Given the description of an element on the screen output the (x, y) to click on. 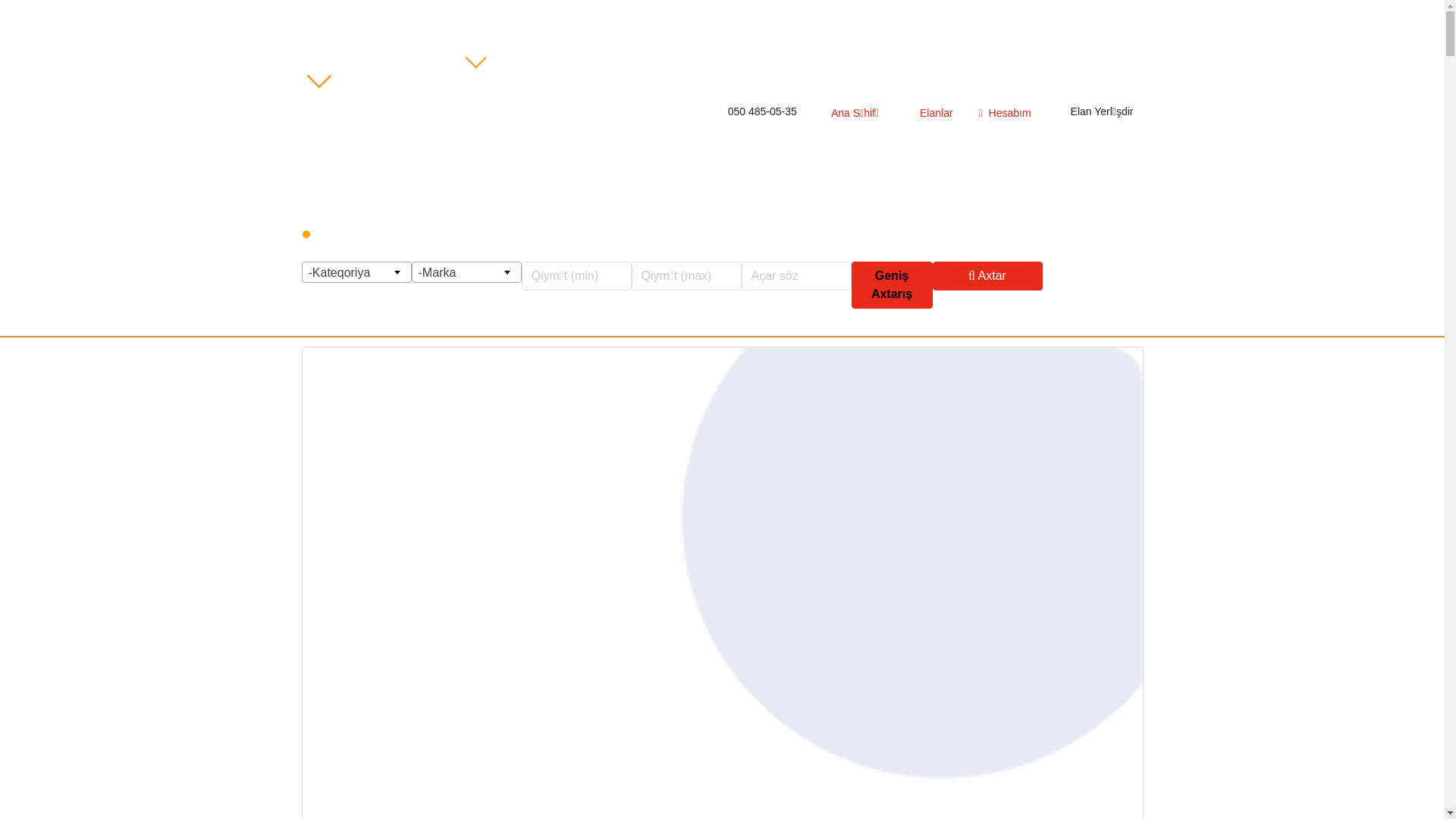
Axtar Element type: text (987, 275)
Elanlar Element type: text (928, 113)
050 485-05-35 Element type: text (760, 111)
